Given the description of an element on the screen output the (x, y) to click on. 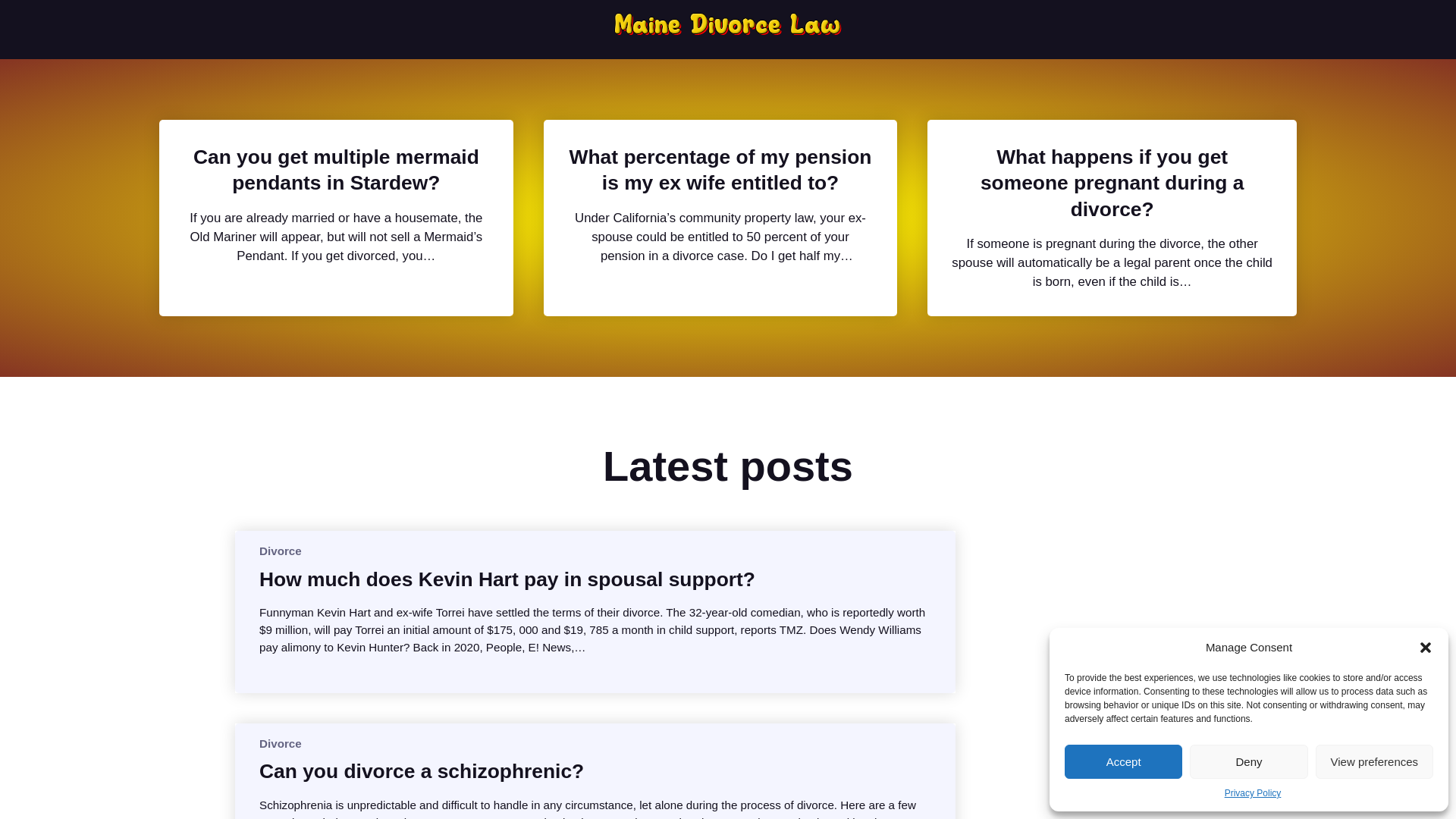
What percentage of my pension is my ex wife entitled to? (720, 170)
Privacy Policy (1252, 793)
View preferences (1374, 761)
Can you get multiple mermaid pendants in Stardew? (336, 170)
Divorce (280, 743)
How much does Kevin Hart pay in spousal support? (507, 579)
Divorce (280, 550)
Deny (1248, 761)
Can you divorce a schizophrenic? (421, 770)
Accept (1123, 761)
What happens if you get someone pregnant during a divorce? (1112, 182)
